Given the description of an element on the screen output the (x, y) to click on. 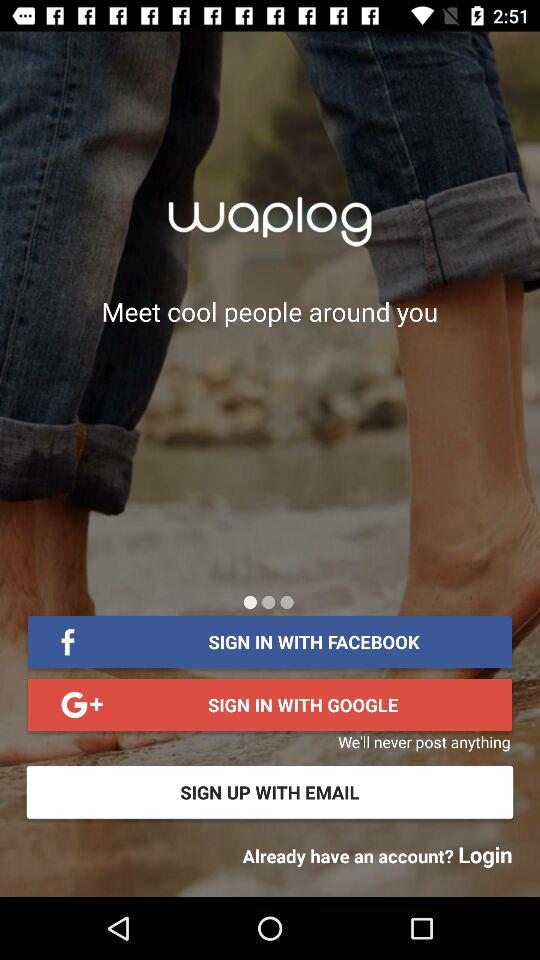
choose icon below the meet cool people (249, 601)
